Given the description of an element on the screen output the (x, y) to click on. 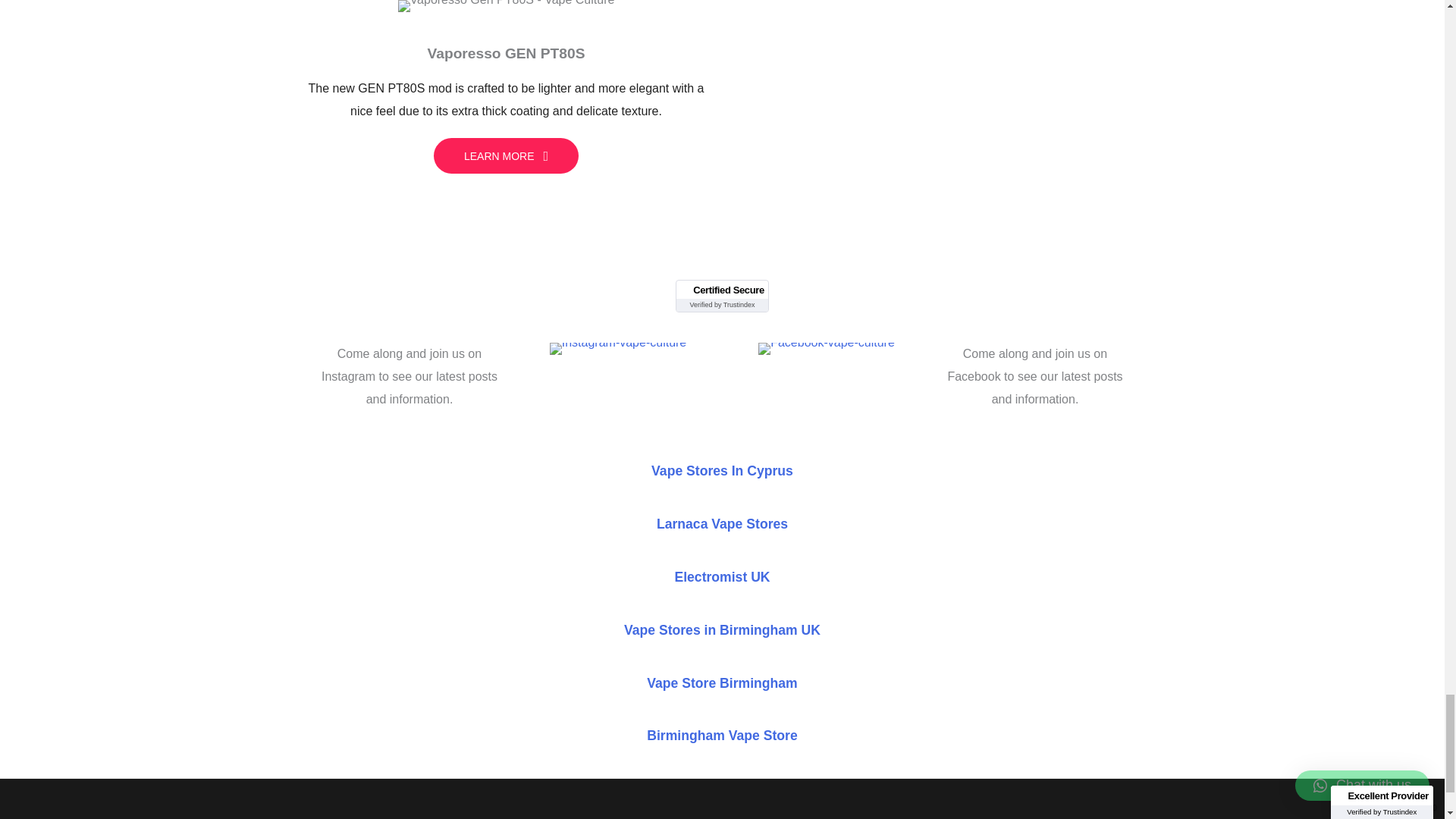
Vape Store Birmingham (721, 682)
LEARN MORE (505, 156)
Vape Stores in Birmingham UK (722, 630)
Facebook-vape-culture (826, 348)
Larnaca Vape Stores (721, 523)
Instagram-vape-culture (618, 348)
Vape Stores In Cyprus (721, 470)
Electromist UK (722, 576)
